Given the description of an element on the screen output the (x, y) to click on. 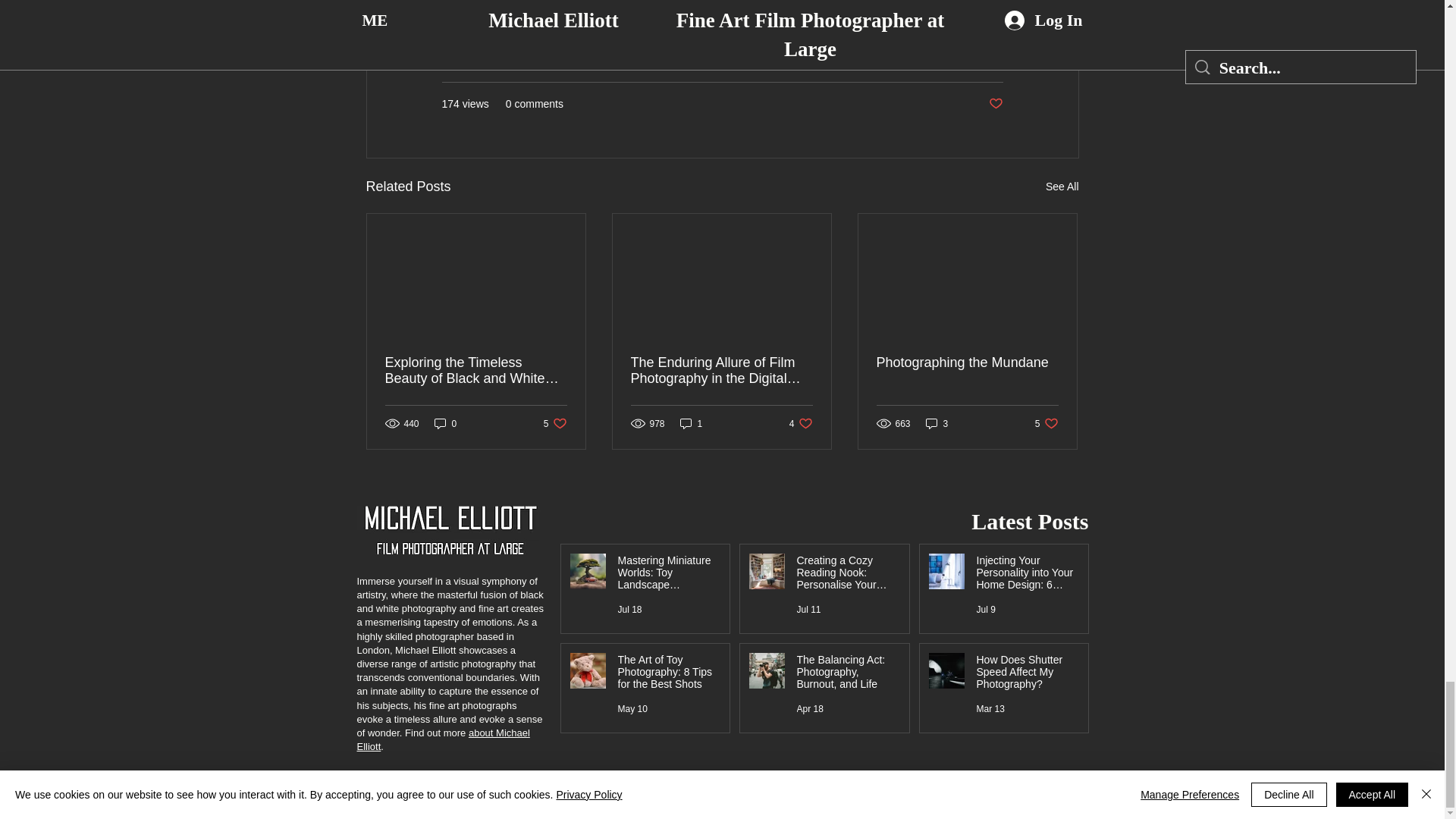
Jul 11 (808, 609)
Apr 18 (809, 708)
Jul 9 (985, 609)
Michael Elliott Photography - Fine Art Film Photography (450, 530)
Jul 18 (629, 609)
May 10 (631, 708)
Mar 13 (990, 708)
